Given the description of an element on the screen output the (x, y) to click on. 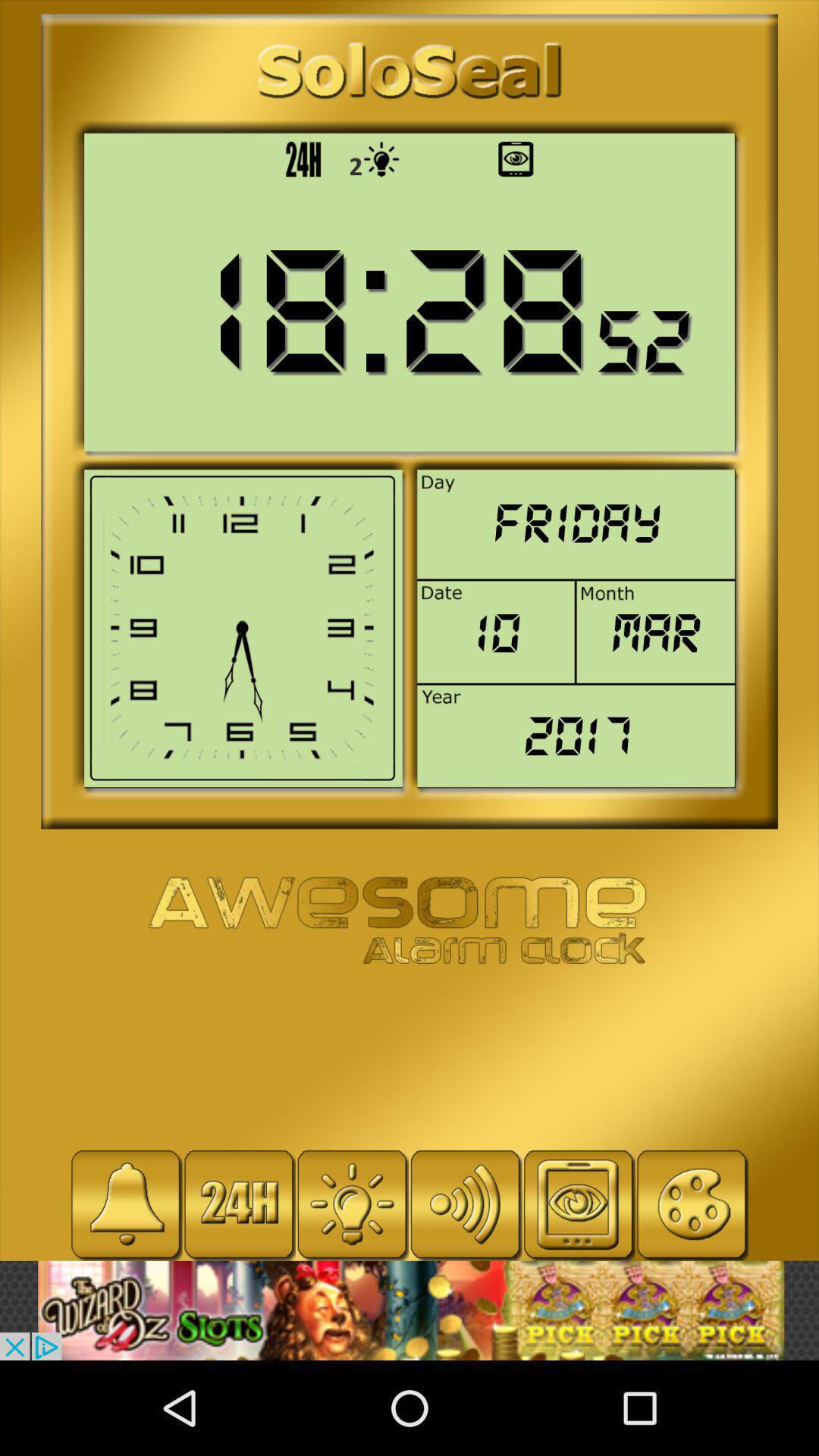
toggle a select option (351, 1203)
